Given the description of an element on the screen output the (x, y) to click on. 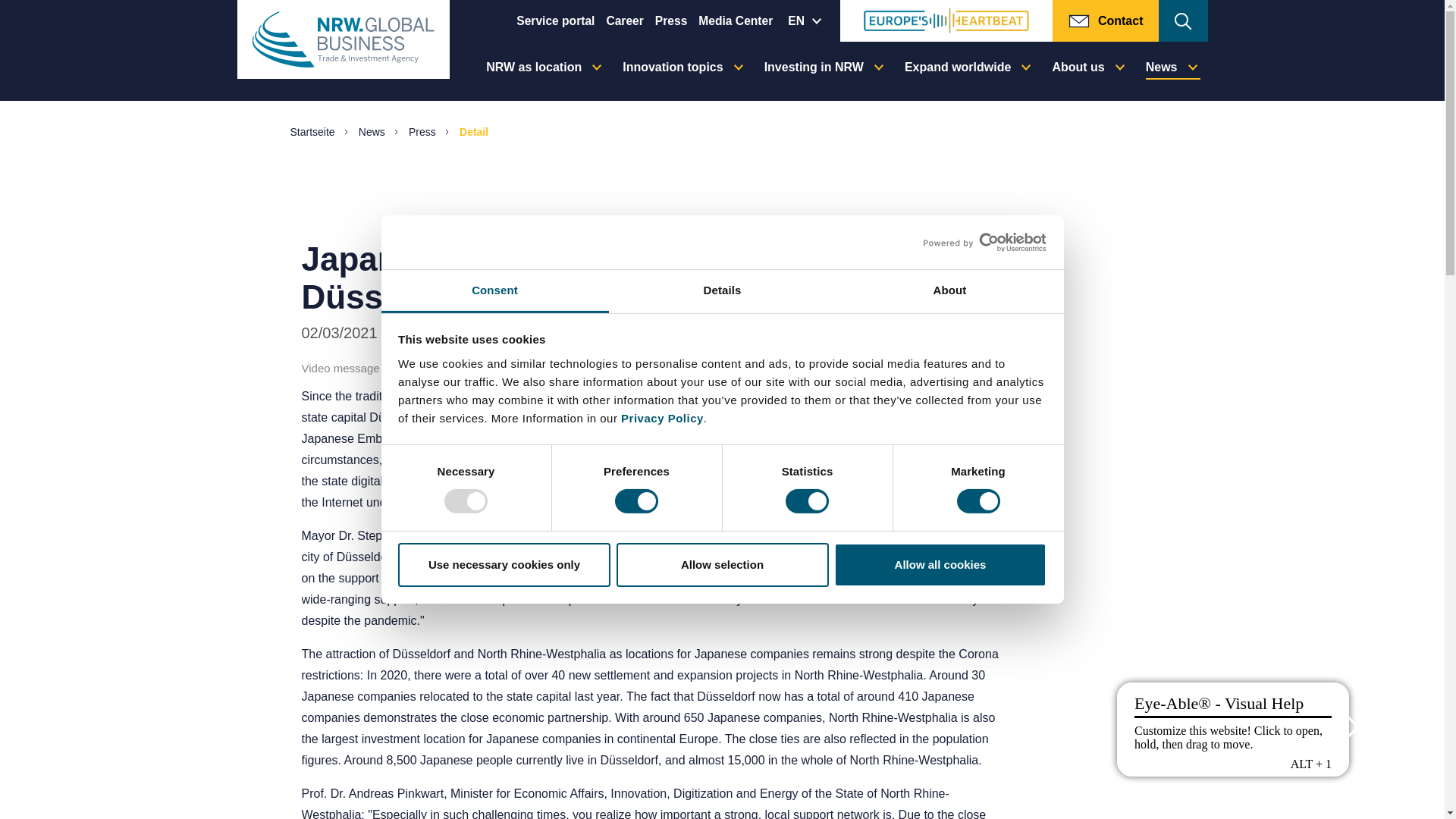
About (948, 291)
Consent (494, 291)
Privacy Policy (662, 418)
Details (721, 291)
